Given the description of an element on the screen output the (x, y) to click on. 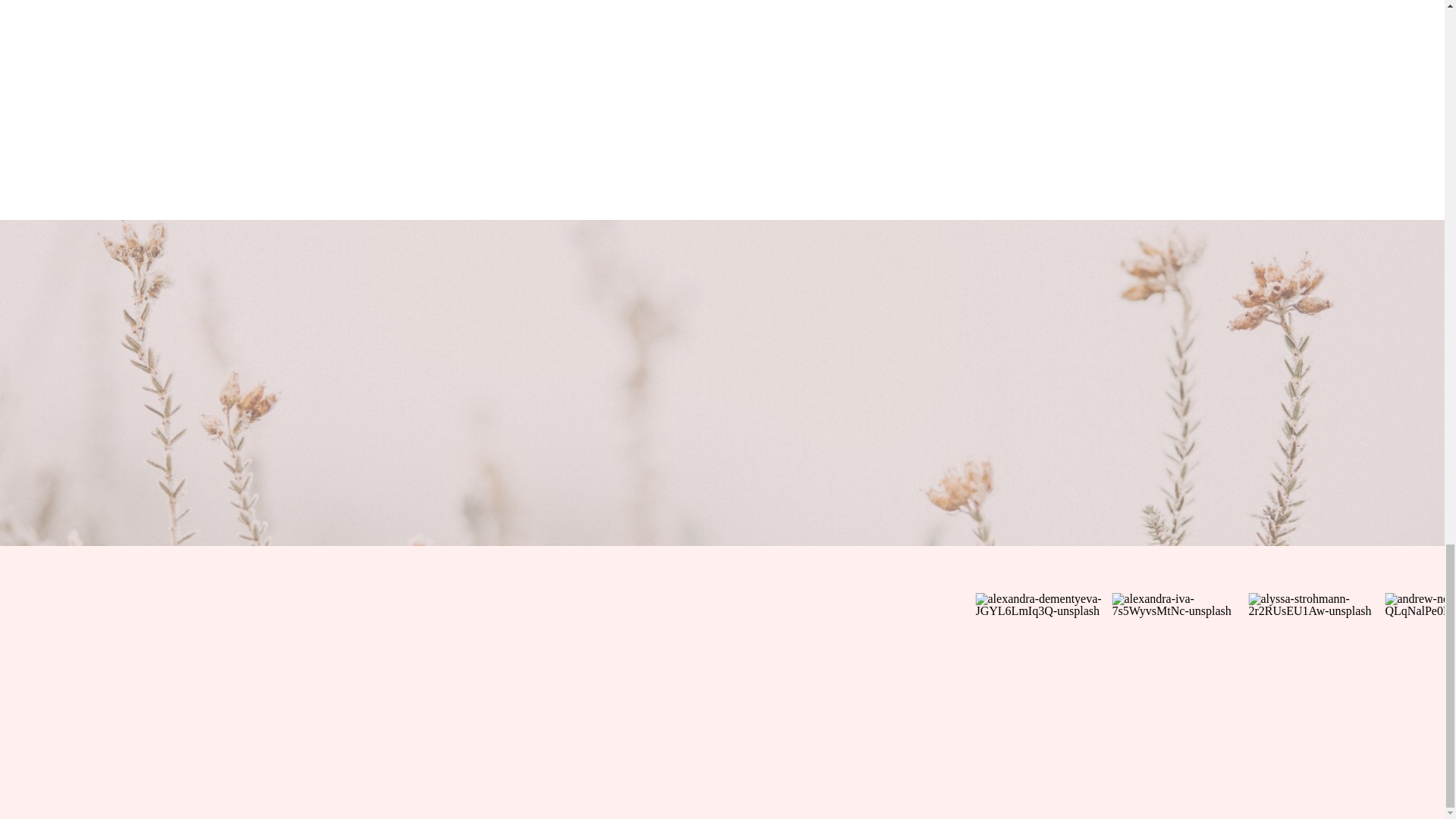
alexandra-dementyeva-JGYL6LmIq3Q-unsplash (1043, 660)
alyssa-strohmann-2r2RUsEU1Aw-unsplash (1315, 660)
alexandra-iva-7s5WyvsMtNc-unsplash (1179, 660)
